Given the description of an element on the screen output the (x, y) to click on. 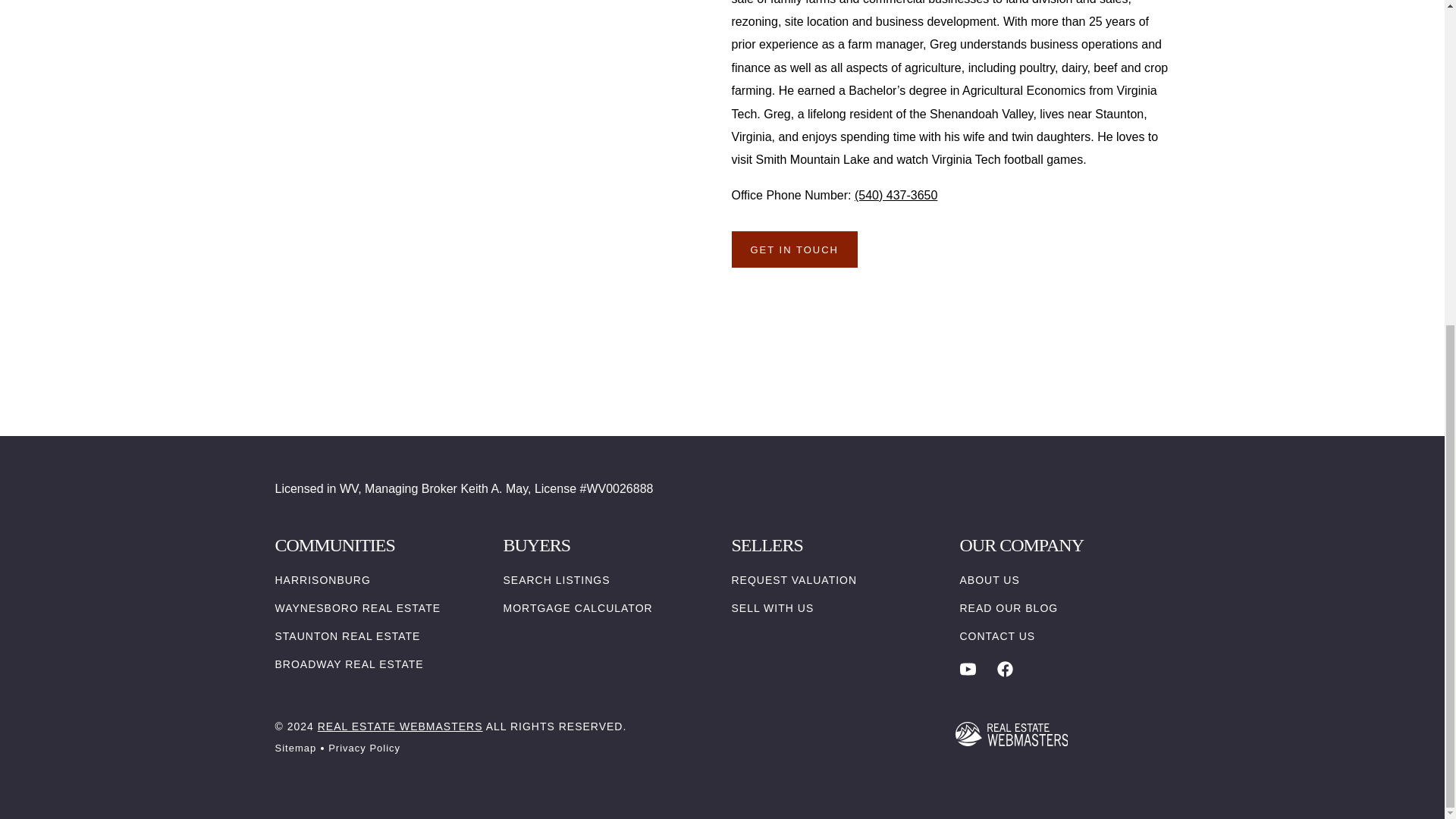
SEARCH LISTINGS (556, 580)
HARRISONBURG (322, 580)
YOUTUBE (967, 668)
FACEBOOK (1005, 668)
MORTGAGE CALCULATOR (577, 608)
GET IN TOUCH (793, 248)
STAUNTON REAL ESTATE (347, 636)
WAYNESBORO REAL ESTATE (358, 608)
BROADWAY REAL ESTATE (349, 664)
